Given the description of an element on the screen output the (x, y) to click on. 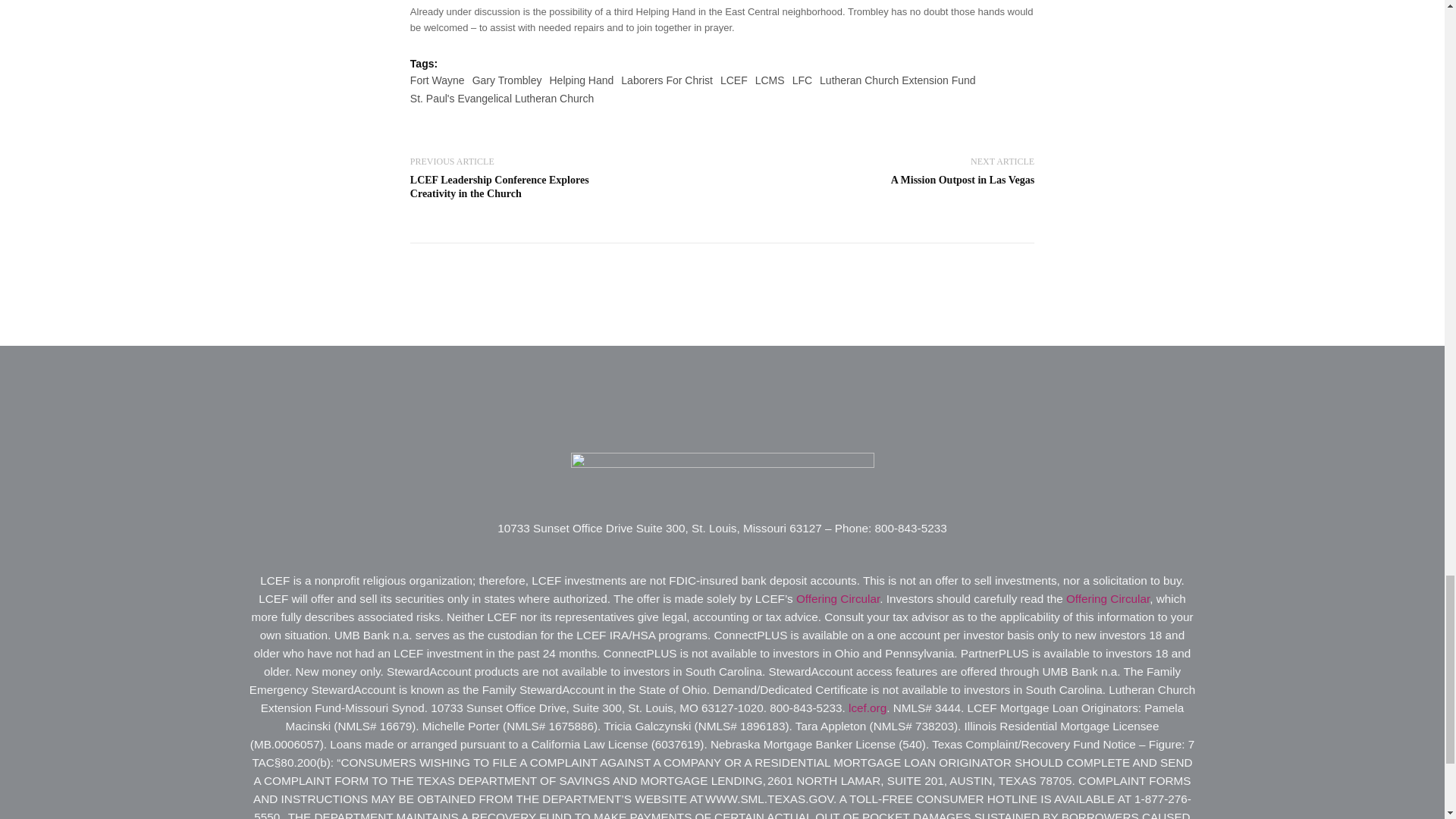
Lutheran Church Extension Fund (897, 80)
Offering Circular (837, 598)
LCMS (769, 80)
Gary Trombley (506, 80)
A Mission Outpost in Las Vegas (962, 179)
St. Paul's Evangelical Lutheran Church (502, 98)
Fort Wayne (437, 80)
LFC (499, 186)
LCEF (802, 80)
